Given the description of an element on the screen output the (x, y) to click on. 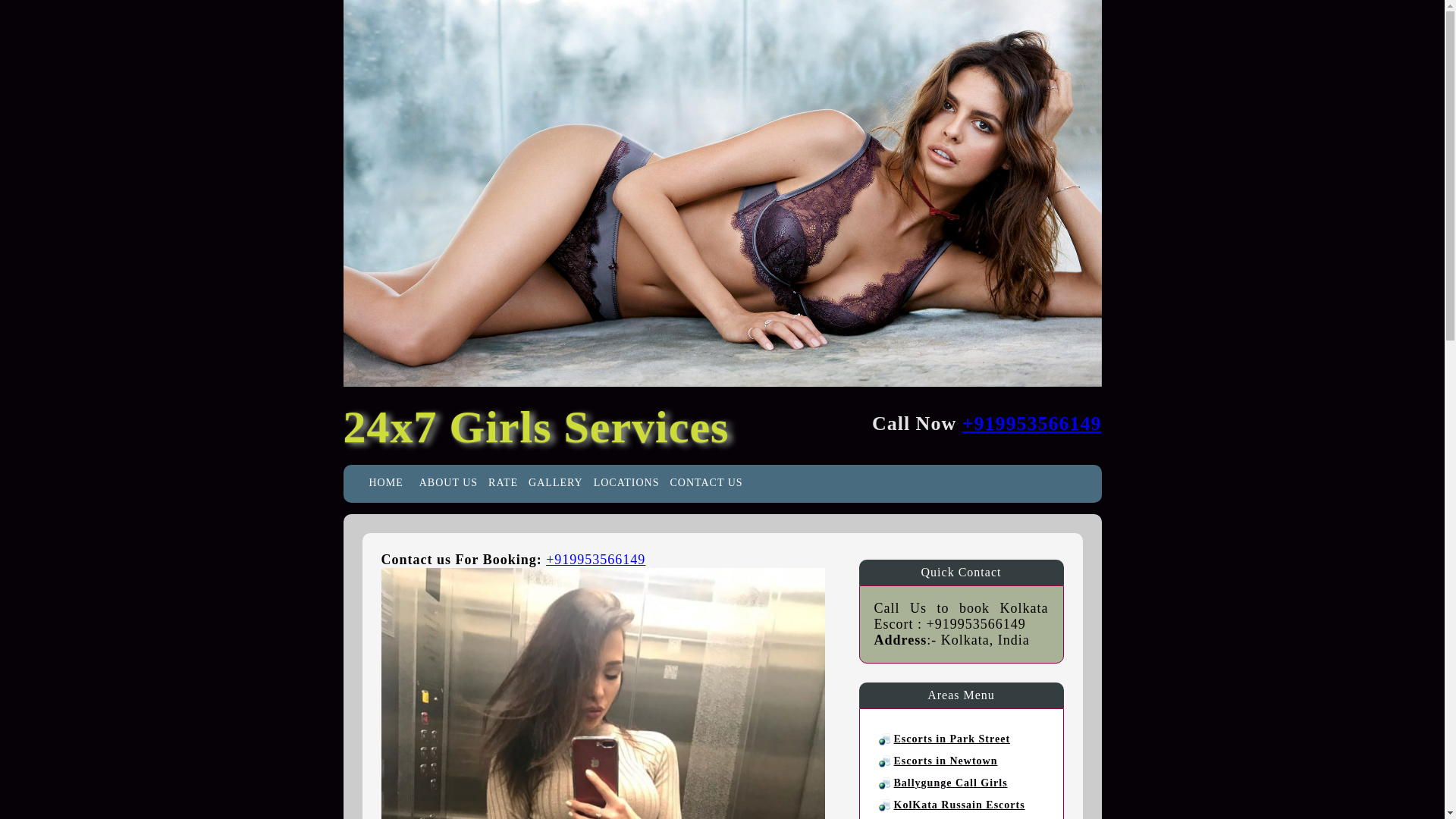
HOME (385, 483)
CONTACT US (705, 483)
RATE (502, 483)
Escorts in Newtown (945, 760)
Call Now (595, 559)
Ballygunge Call Girls (950, 782)
ABOUT US (448, 483)
GALLERY (555, 483)
KolKata Russain Escorts (959, 804)
LOCATIONS (626, 483)
